Given the description of an element on the screen output the (x, y) to click on. 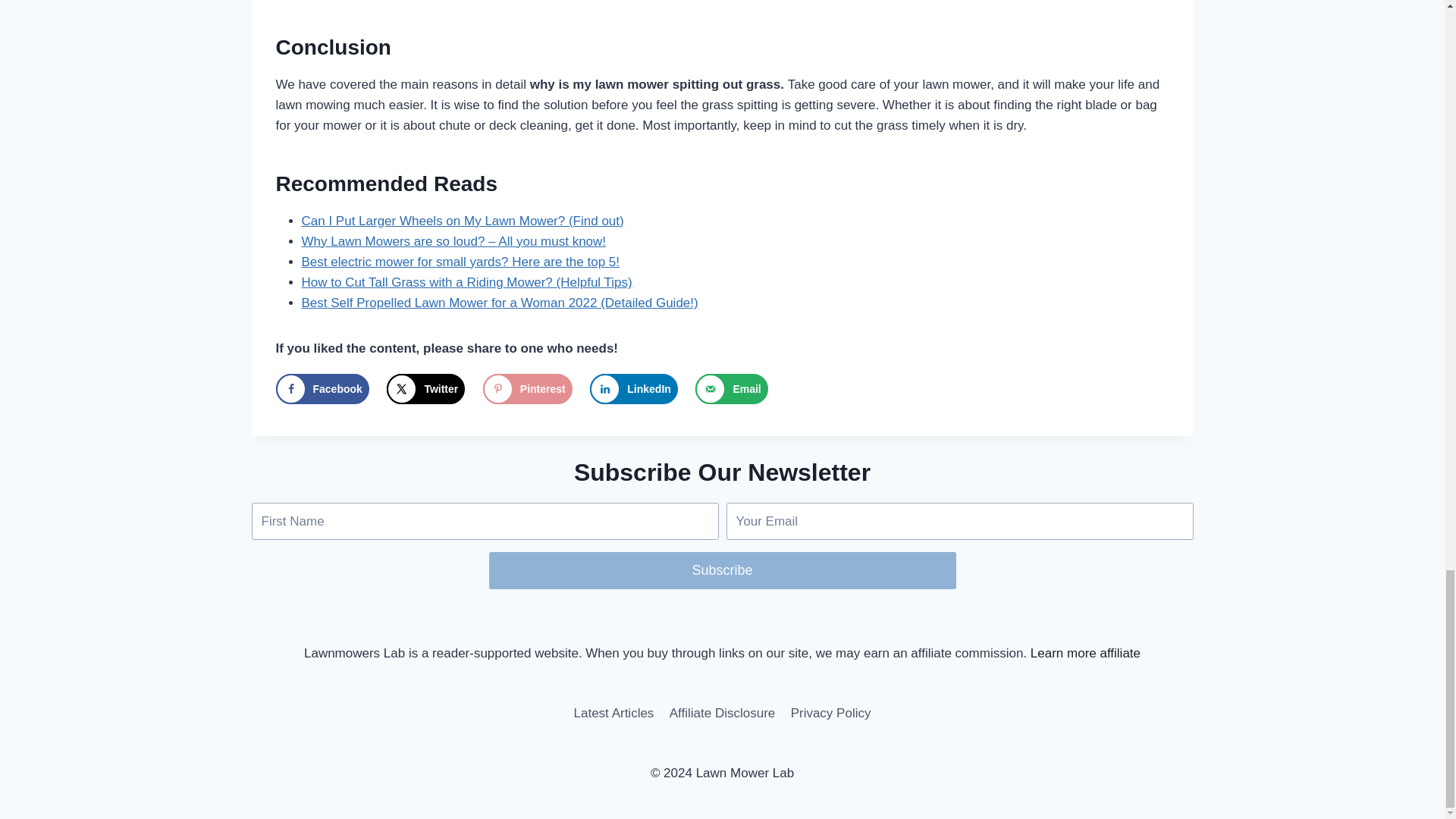
Pinterest (527, 388)
LinkedIn (633, 388)
Privacy Policy (830, 713)
Send over email (731, 388)
Email (731, 388)
Twitter (425, 388)
Save to Pinterest (527, 388)
Best electric mower for small yards? Here are the top 5! (460, 261)
Facebook (322, 388)
Learn more affiliate (1085, 653)
Share on LinkedIn (633, 388)
Share on X (425, 388)
Latest Articles (613, 713)
Share on Facebook (322, 388)
Affiliate Disclosure (722, 713)
